Given the description of an element on the screen output the (x, y) to click on. 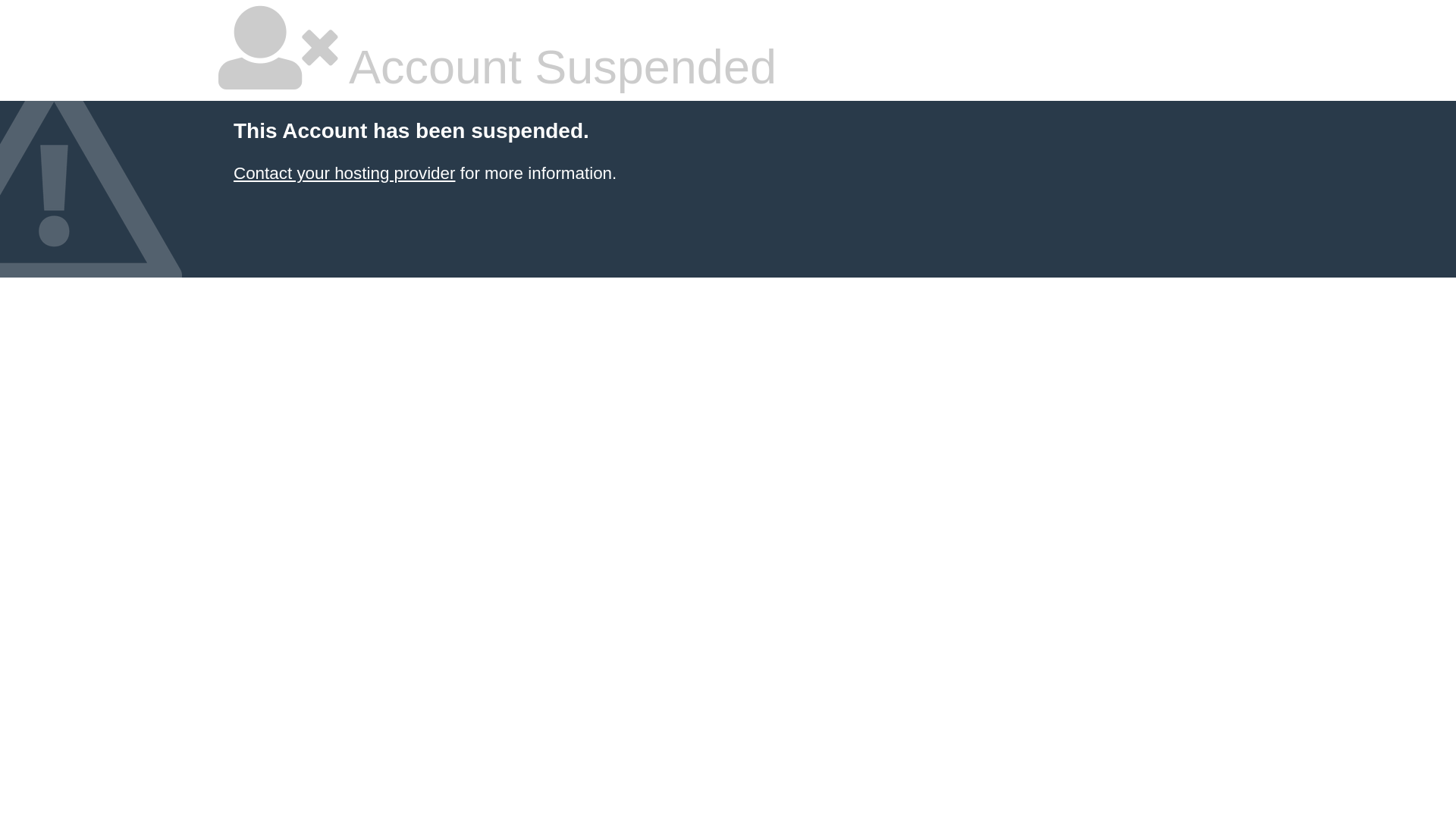
Contact your hosting provider Element type: text (344, 172)
